Given the description of an element on the screen output the (x, y) to click on. 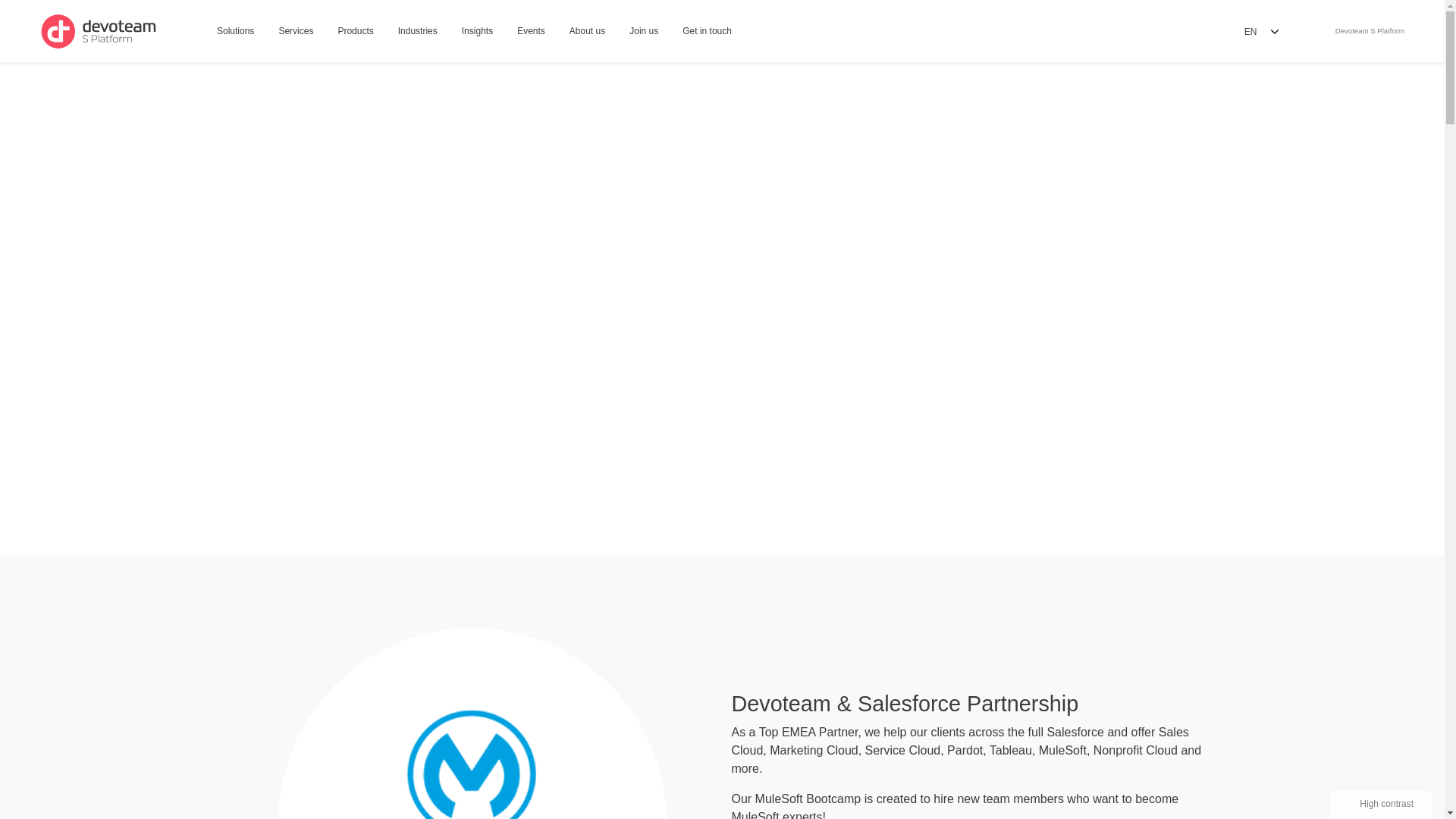
About us (587, 31)
Services (1366, 31)
Products (295, 31)
Get in touch (354, 31)
Solutions (706, 31)
EN (235, 31)
Industries (1260, 31)
